Given the description of an element on the screen output the (x, y) to click on. 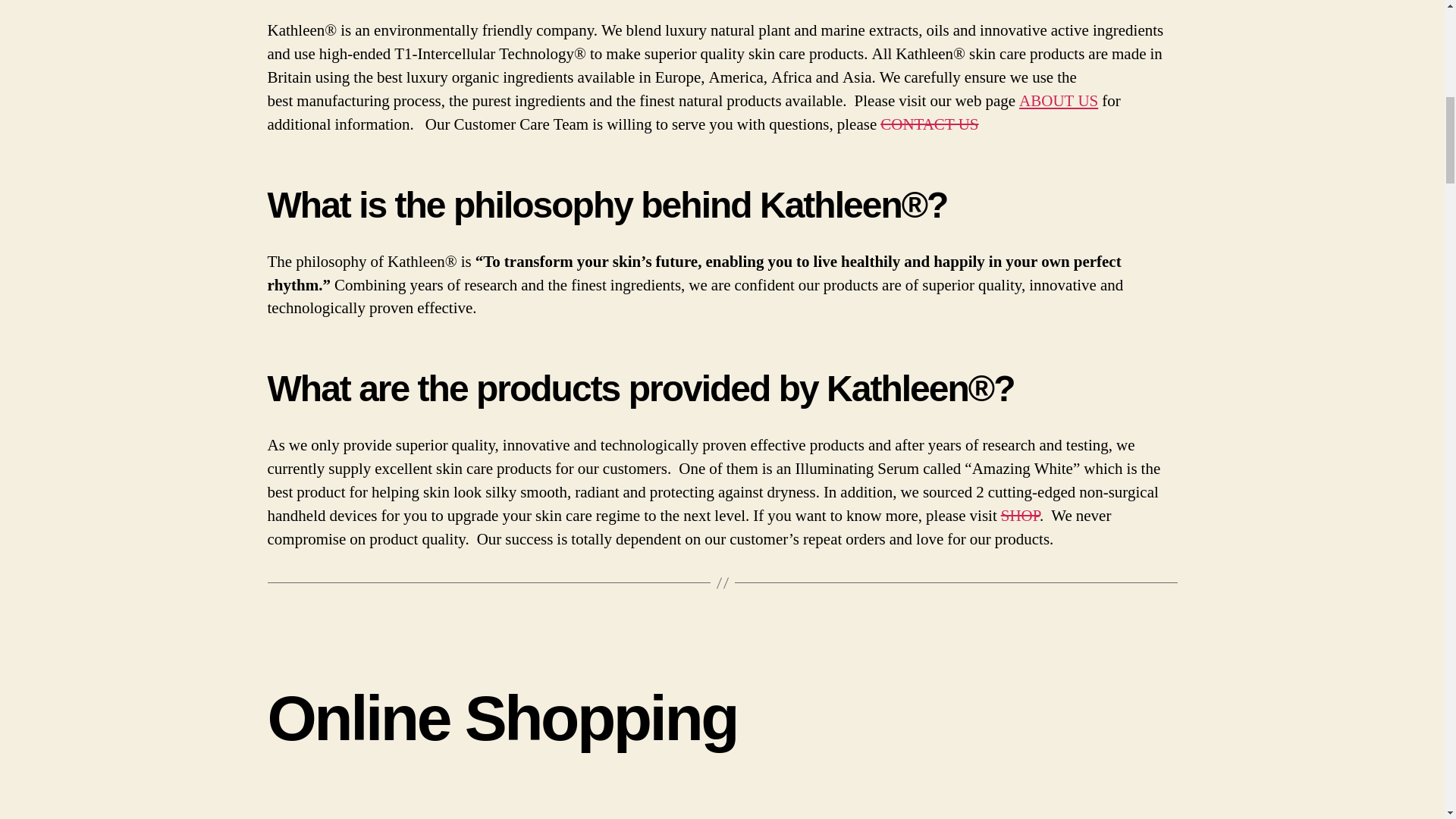
CONTACT US (929, 124)
ABOUT US (1058, 100)
SHOP (1020, 516)
